Given the description of an element on the screen output the (x, y) to click on. 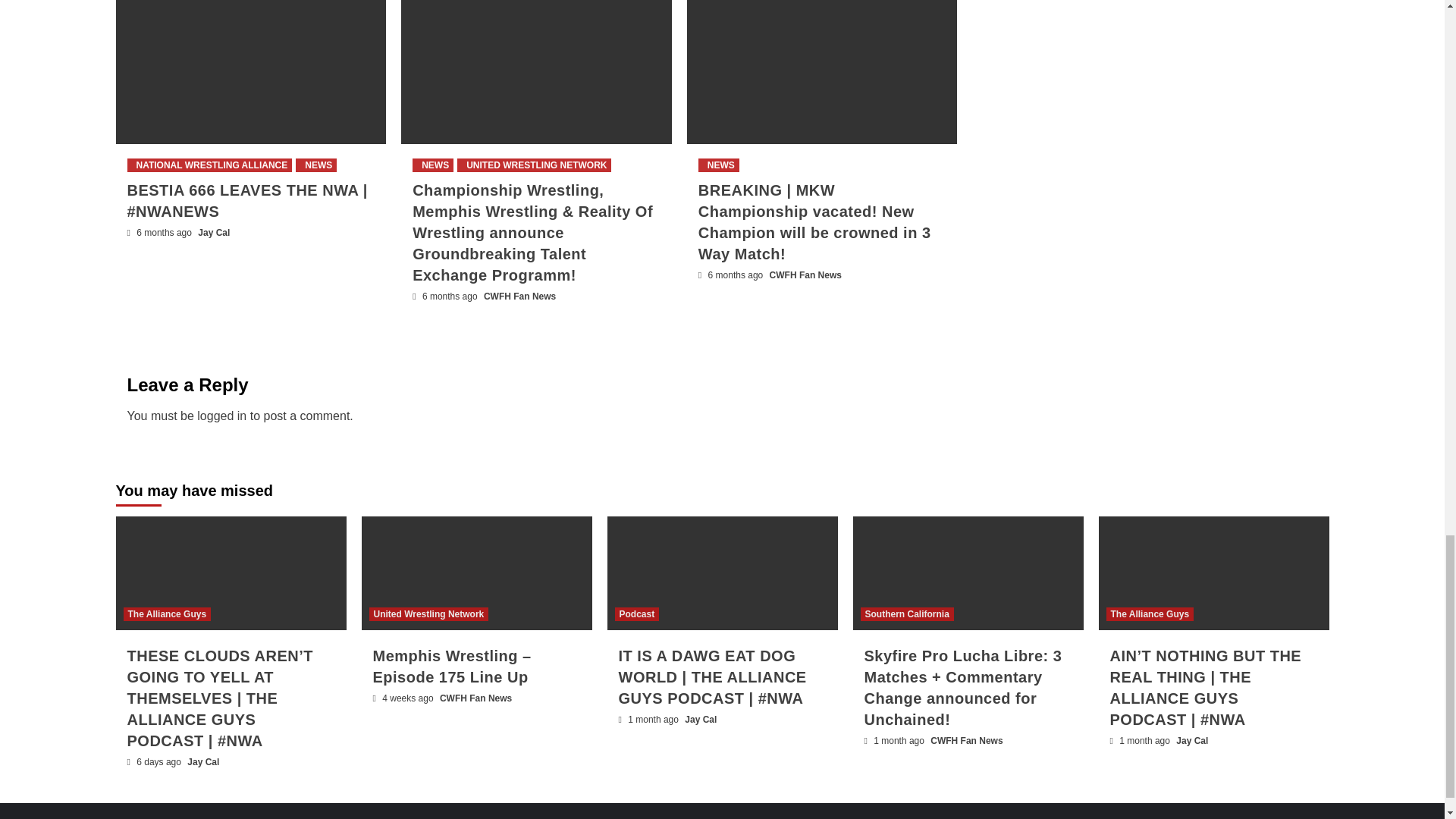
CWFH Fan News (805, 275)
NEWS (315, 164)
NATIONAL WRESTLING ALLIANCE (210, 164)
UNITED WRESTLING NETWORK (534, 164)
CWFH Fan News (519, 296)
Jay Cal (214, 232)
NEWS (718, 164)
NEWS (432, 164)
